Given the description of an element on the screen output the (x, y) to click on. 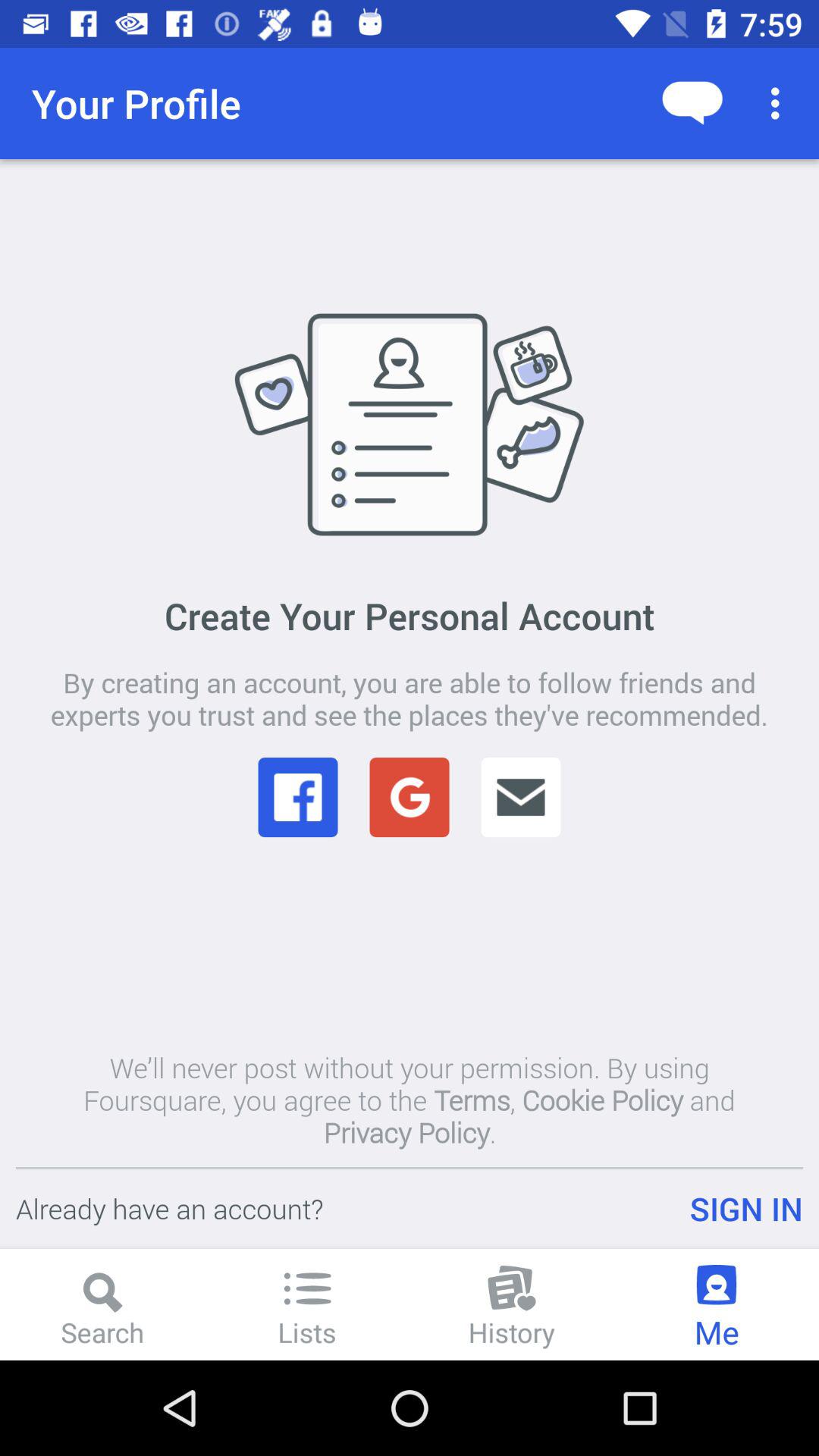
click on the lists icon (307, 1289)
go to g icon (409, 797)
select the image which is above the text create your personal account (409, 423)
click on history (511, 1304)
